Given the description of an element on the screen output the (x, y) to click on. 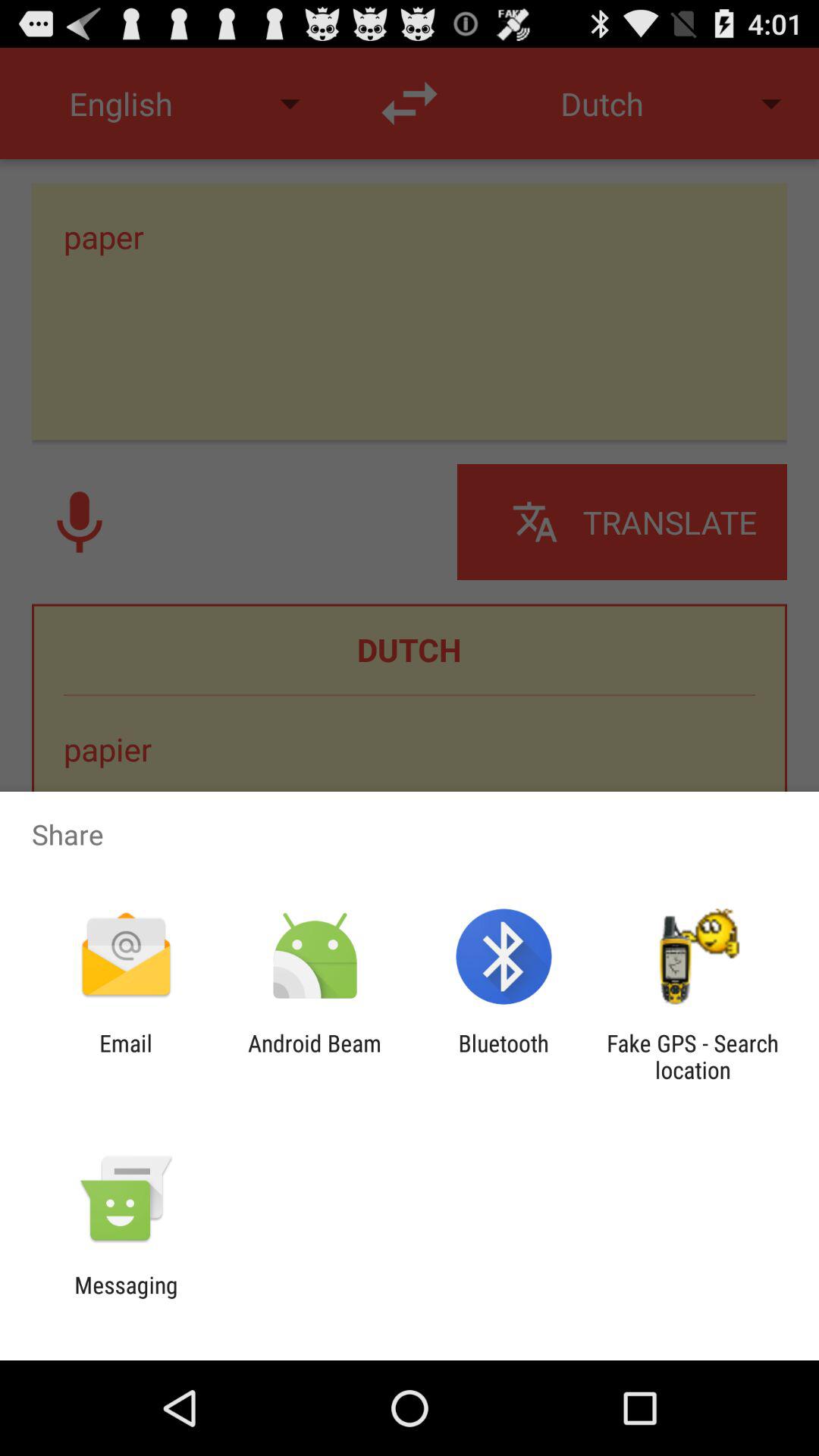
flip until bluetooth app (503, 1056)
